Given the description of an element on the screen output the (x, y) to click on. 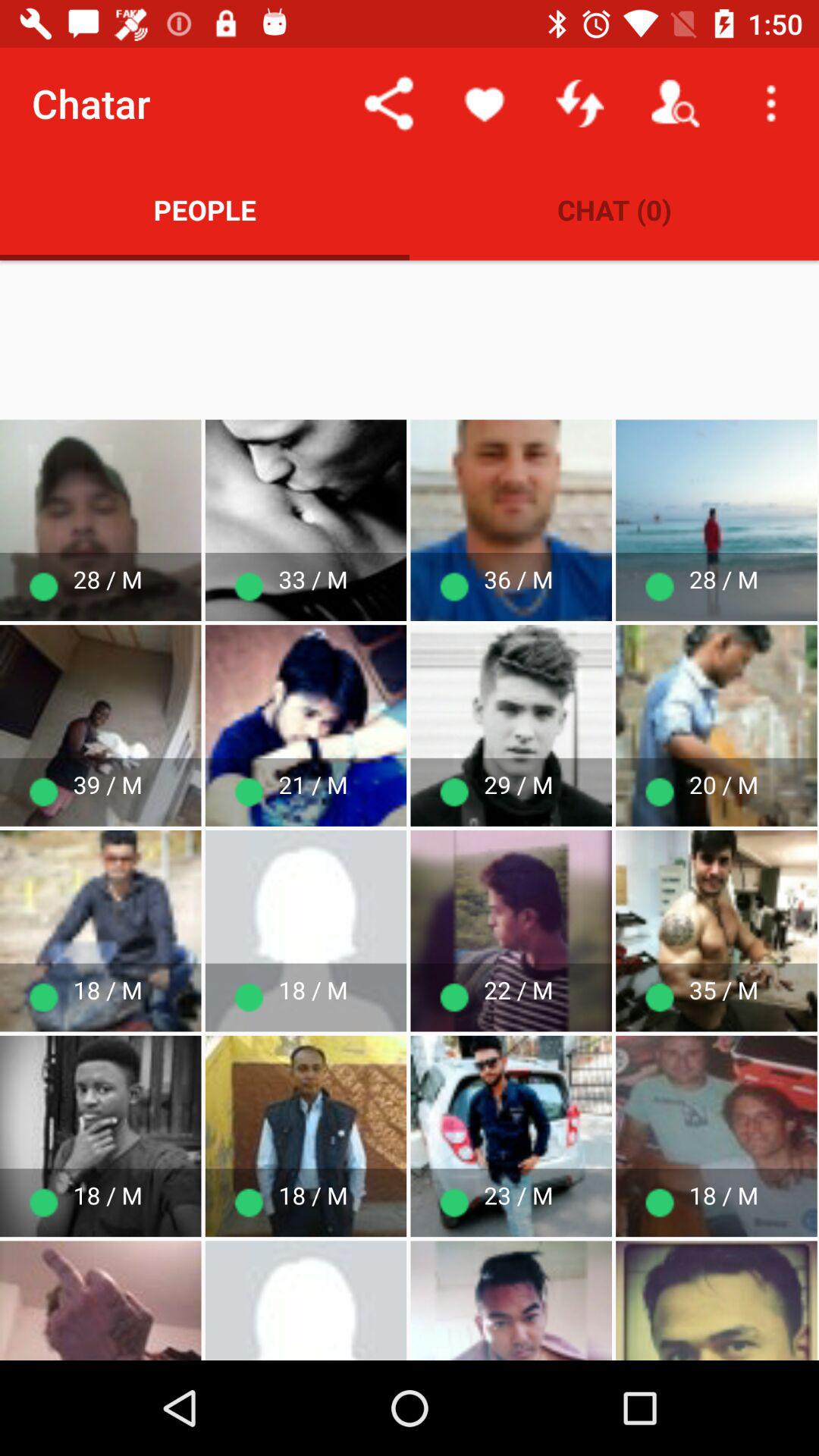
flip until the chat (0) (614, 209)
